Given the description of an element on the screen output the (x, y) to click on. 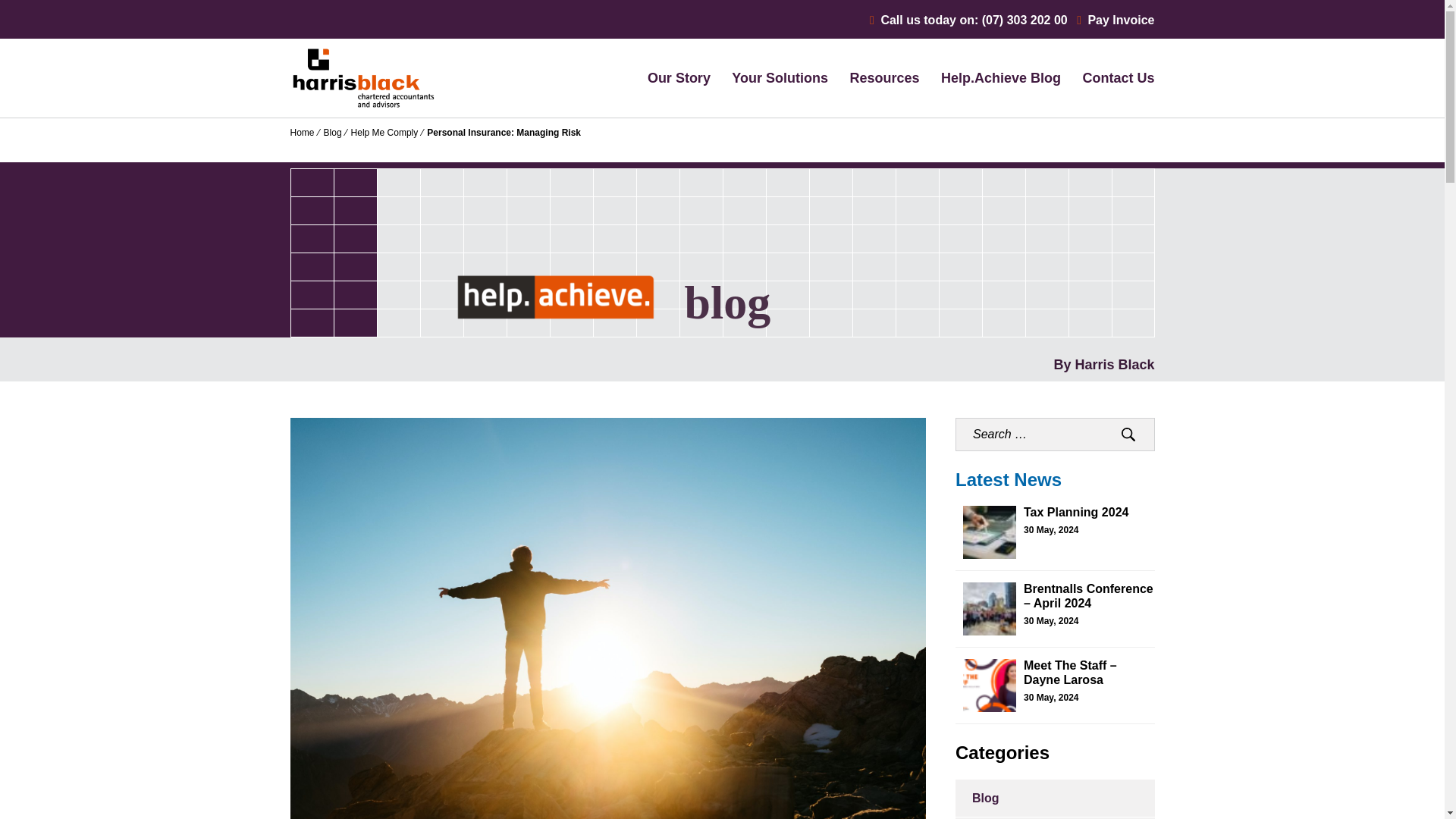
Permalink to Tax Planning 2024 (1075, 512)
Search (1127, 434)
Personal Insurance: Managing Risk (503, 132)
Pay Invoice (1115, 19)
Help.Achieve Blog (1000, 77)
Latest News (1008, 479)
Contact Us (1117, 77)
Blog (332, 132)
Your Solutions (780, 77)
By Harris Black (1103, 364)
Latest News (1008, 479)
Harris Black (341, 153)
Our Story (678, 77)
Search (1127, 434)
Home (301, 132)
